Given the description of an element on the screen output the (x, y) to click on. 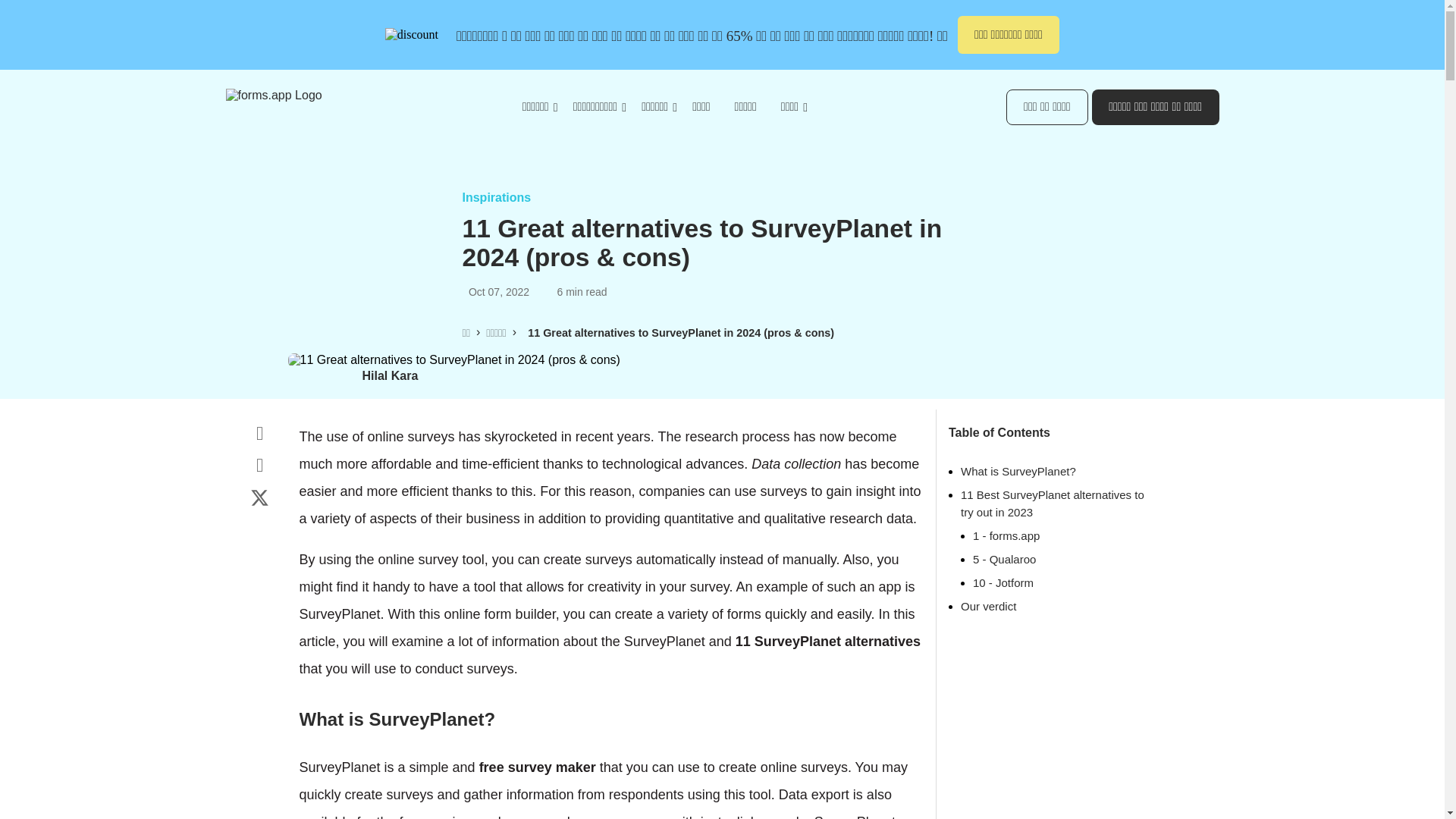
11 Best SurveyPlanet alternatives to try out in 2023 (1052, 503)
1 - forms.app (1005, 535)
5 - Qualaroo (1003, 558)
Our verdict (988, 605)
10 - Jotform (1002, 582)
What is SurveyPlanet? (1017, 471)
